Given the description of an element on the screen output the (x, y) to click on. 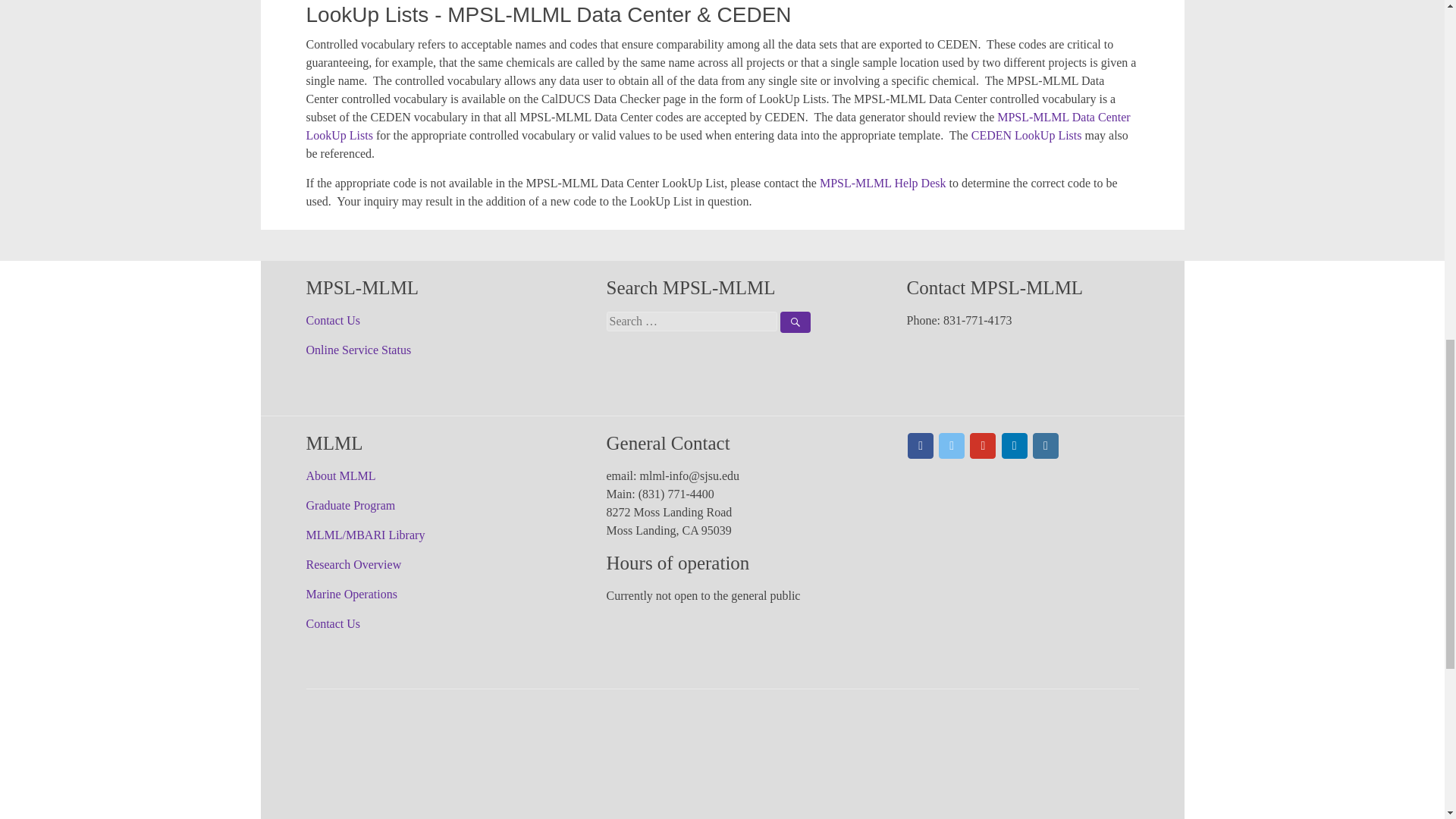
CEDEN LookUp Lists (1026, 134)
Moss Landing Marine Laboratories on Facebook (920, 445)
MPSL-MLML Data Center LookUp Lists (718, 125)
